Given the description of an element on the screen output the (x, y) to click on. 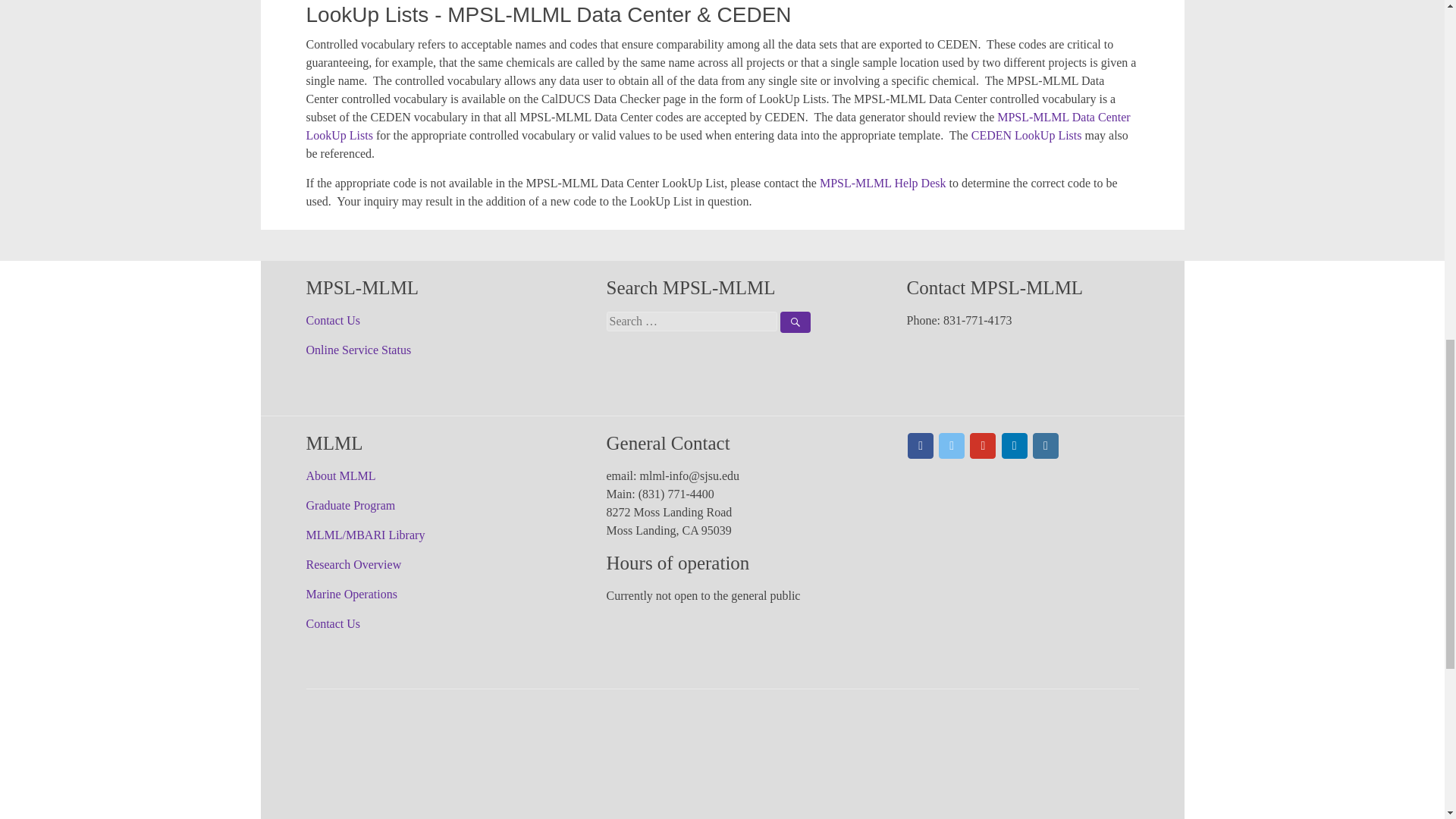
CEDEN LookUp Lists (1026, 134)
Moss Landing Marine Laboratories on Facebook (920, 445)
MPSL-MLML Data Center LookUp Lists (718, 125)
